Given the description of an element on the screen output the (x, y) to click on. 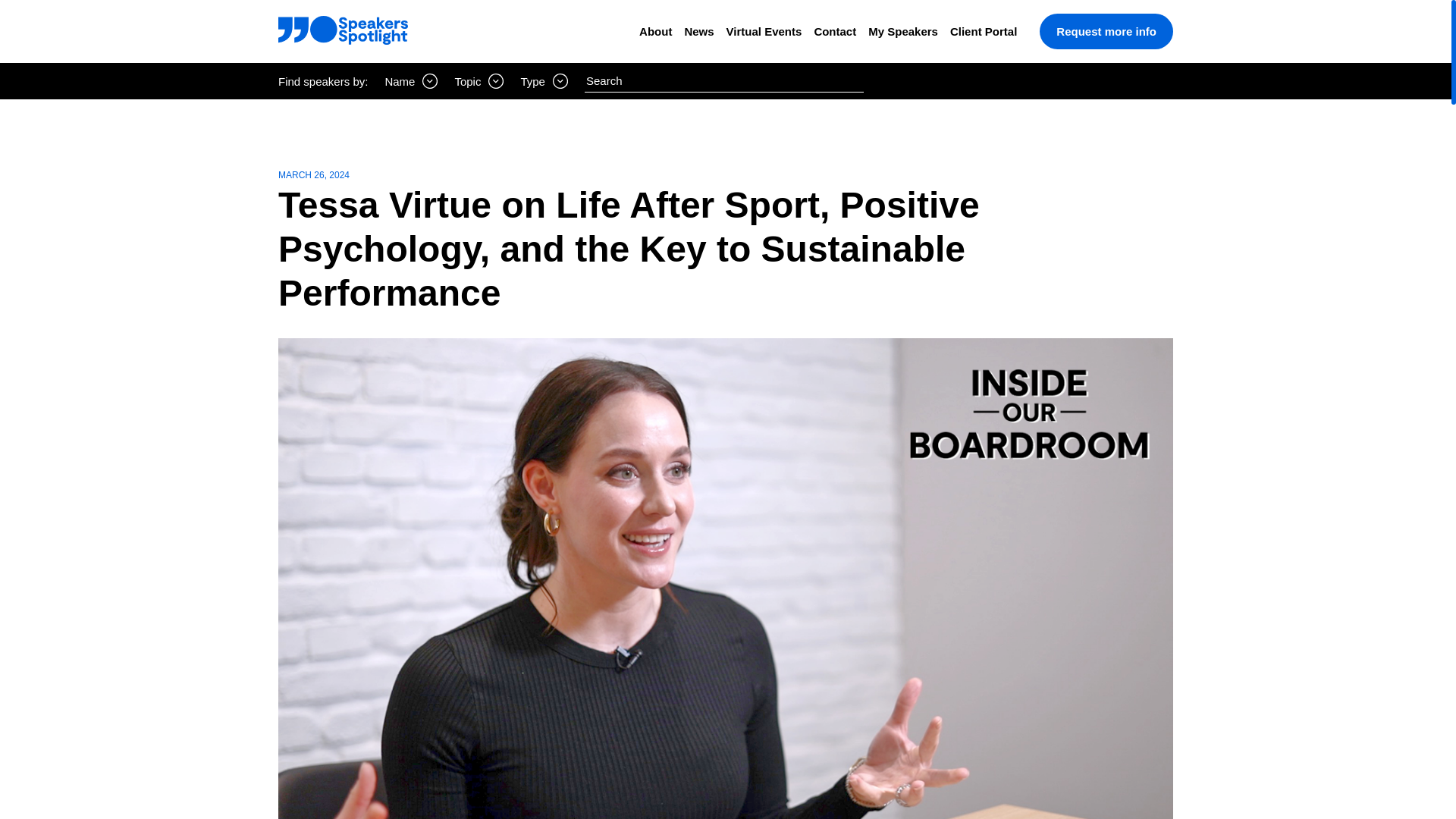
About (655, 31)
Request more info (1106, 31)
My Speakers (902, 31)
Client Portal (983, 31)
Contact (834, 31)
Name (411, 80)
Virtual Events (764, 31)
